Given the description of an element on the screen output the (x, y) to click on. 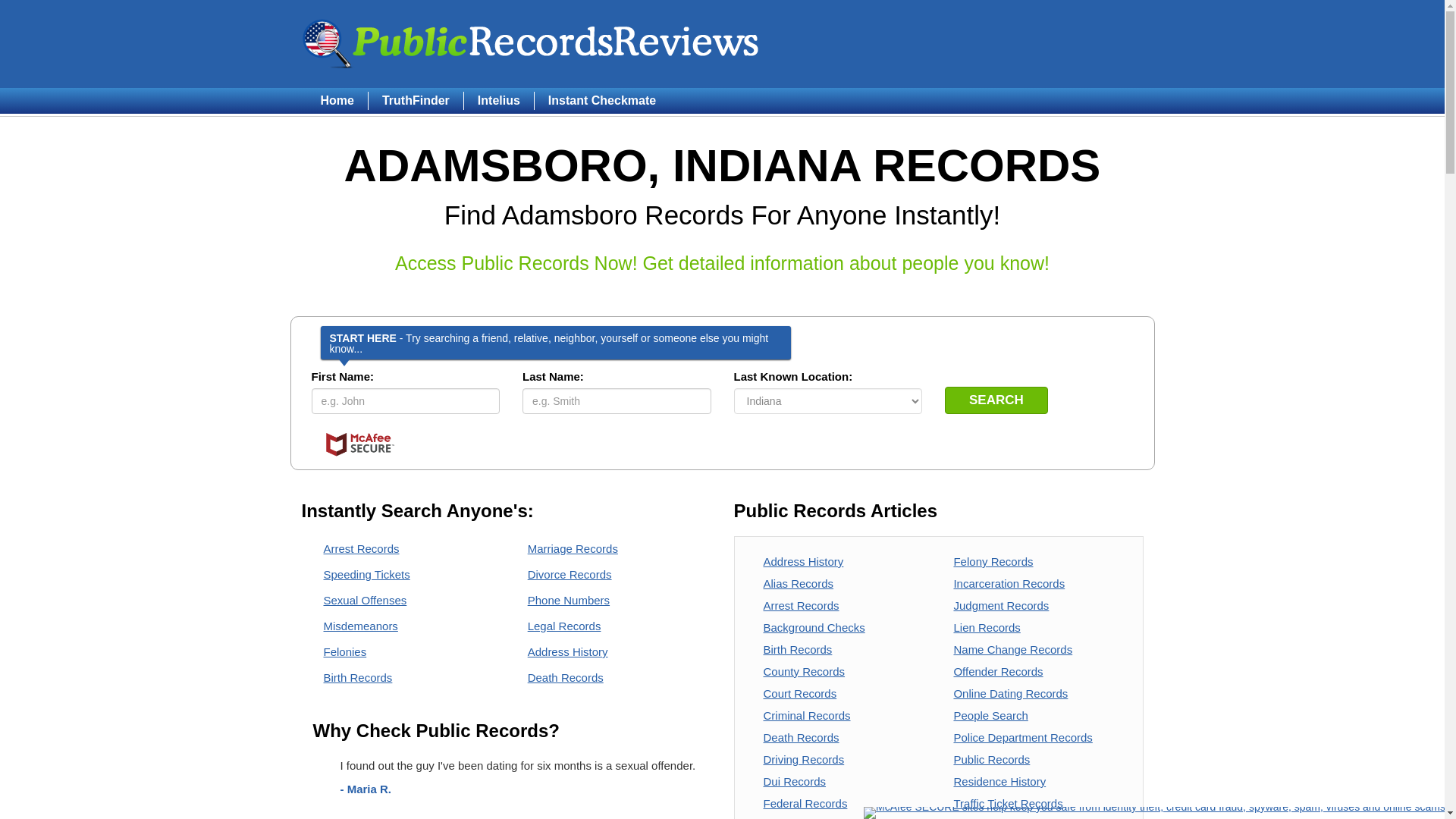
Address History (802, 561)
McAfee Secured (359, 444)
Criminal Records (806, 715)
Police Department Records (1022, 737)
Online Dating Records (1010, 693)
Arrest Records (800, 604)
People Search (990, 715)
Legal Records (564, 625)
Background Checks (813, 626)
Name Change Records (1012, 649)
